Given the description of an element on the screen output the (x, y) to click on. 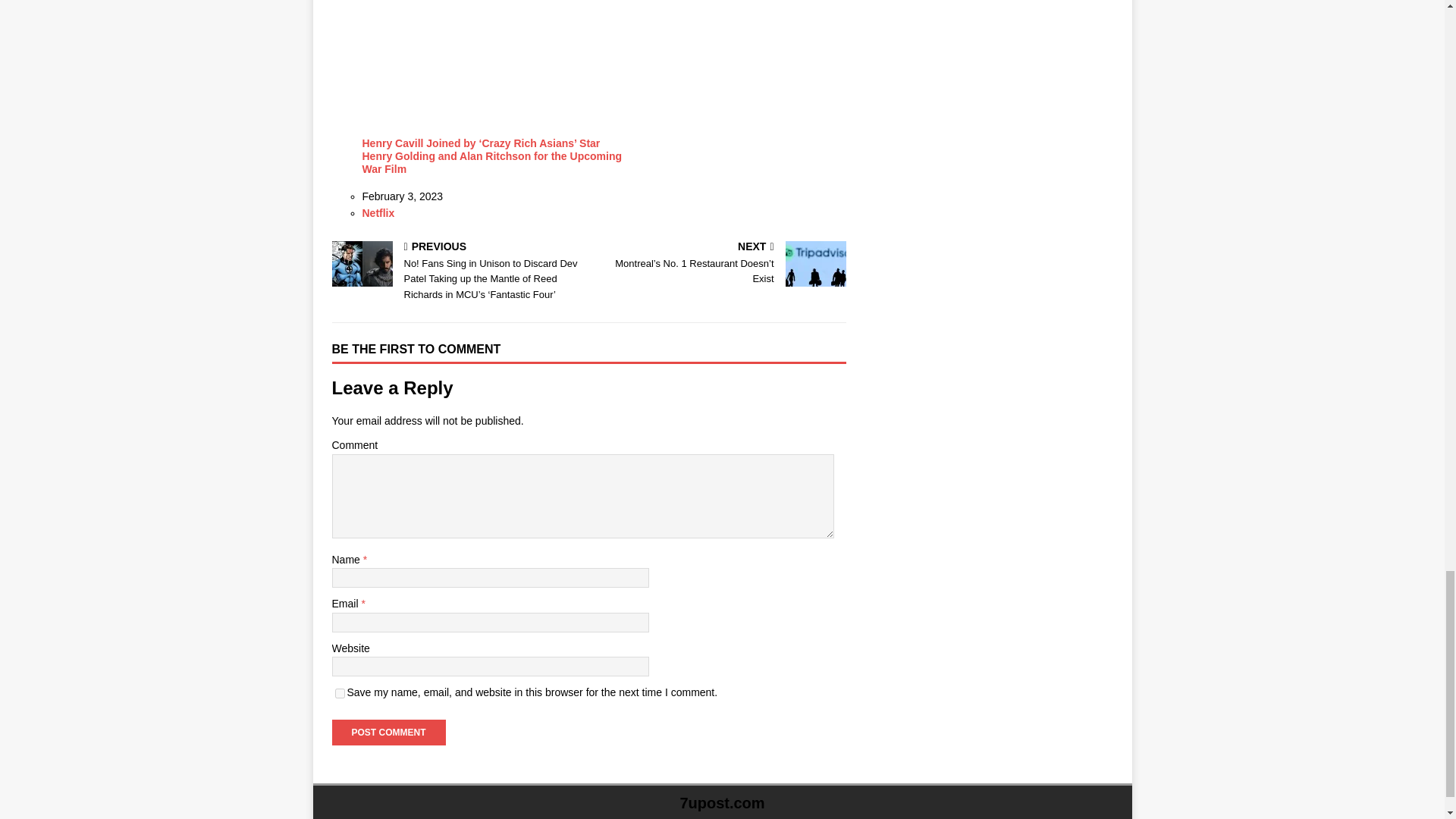
yes (339, 693)
Post Comment (388, 732)
Post Comment (388, 732)
Netflix (378, 213)
